Given the description of an element on the screen output the (x, y) to click on. 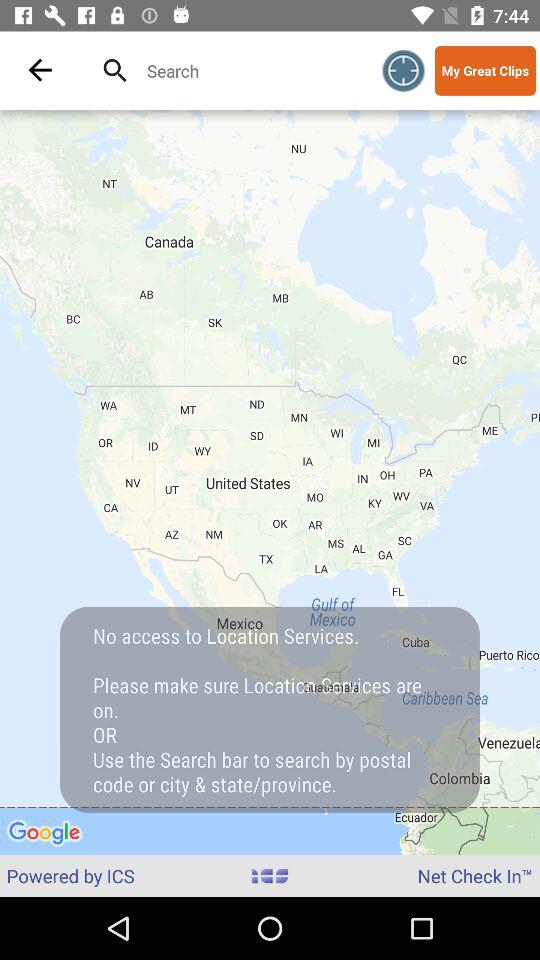
map (248, 70)
